Given the description of an element on the screen output the (x, y) to click on. 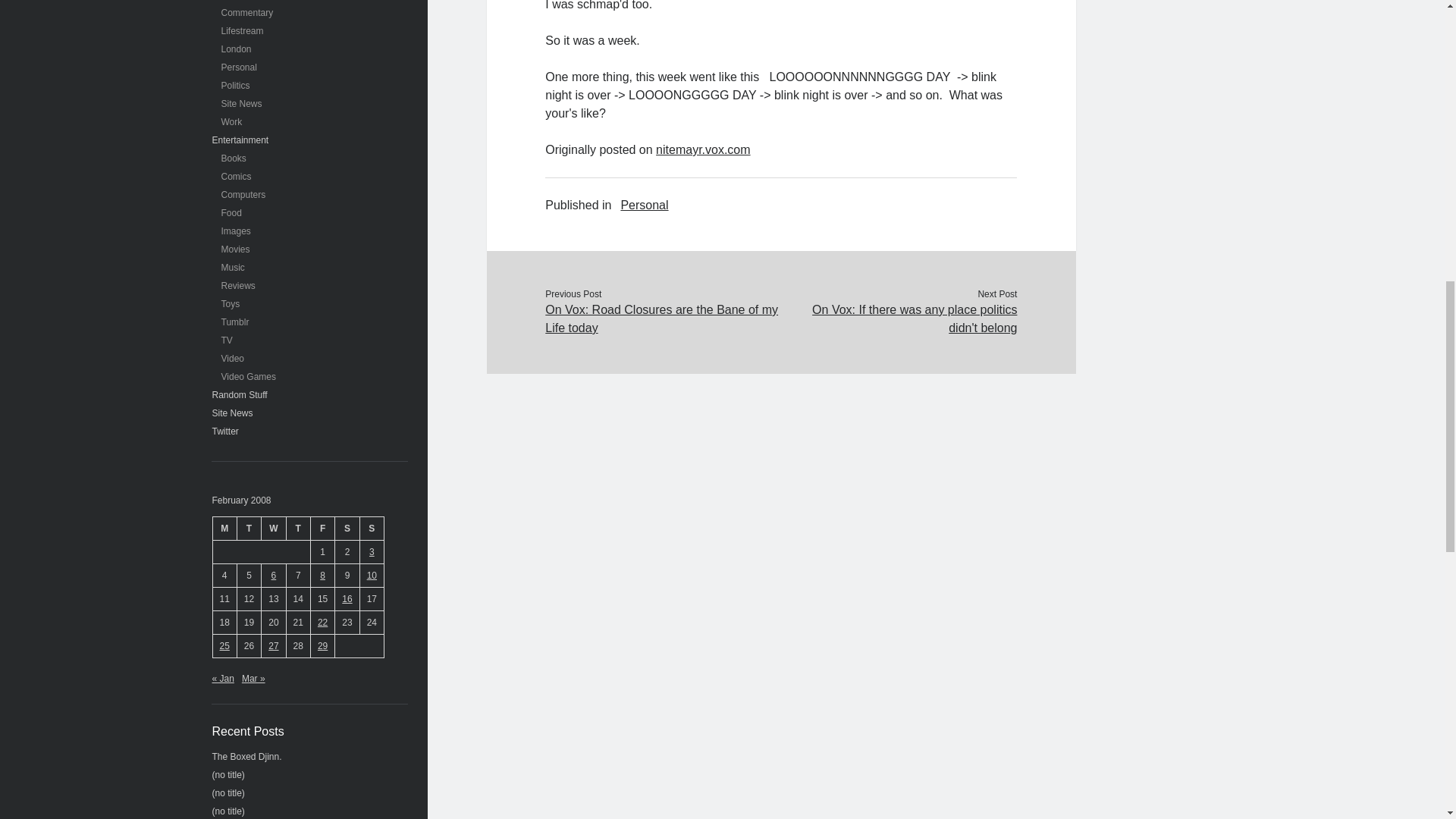
Entertainment (240, 140)
View all posts in Personal (644, 205)
Saturday (346, 527)
Politics (235, 85)
Friday (322, 527)
Monday (223, 527)
Site News (241, 103)
Thursday (297, 527)
Comics (236, 176)
Lifestream (242, 30)
